Given the description of an element on the screen output the (x, y) to click on. 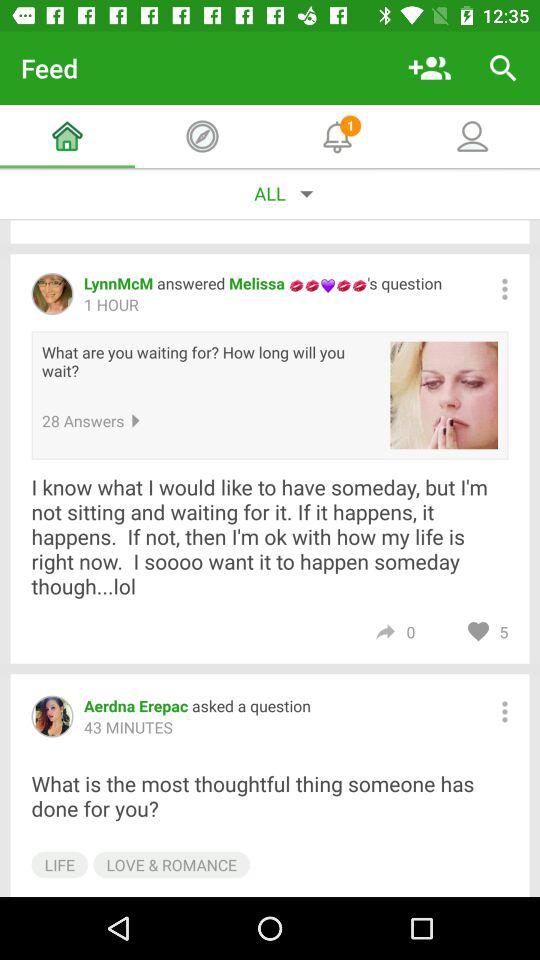
select app next to the feed app (429, 67)
